Given the description of an element on the screen output the (x, y) to click on. 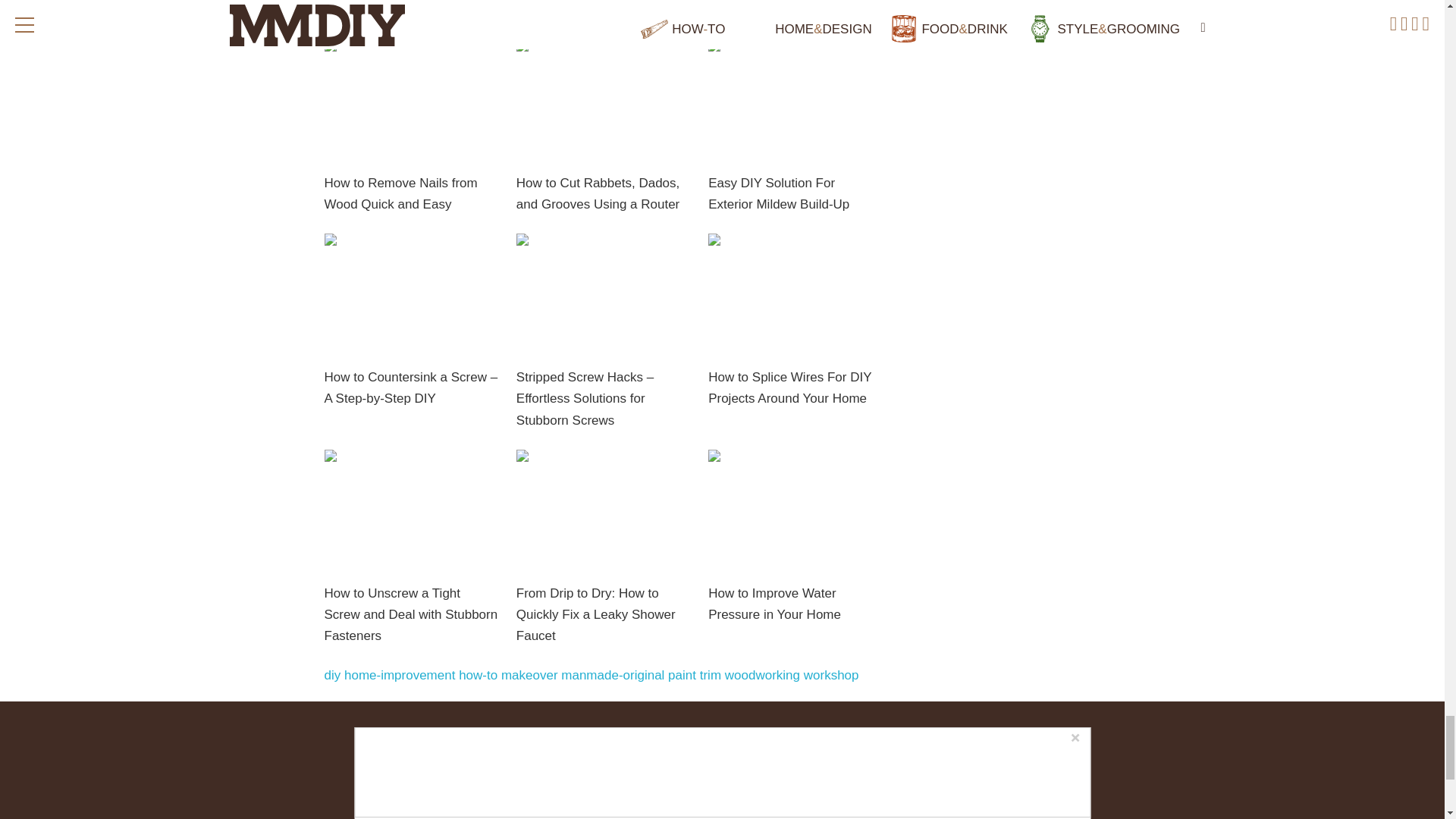
How to Remove Nails from Wood Quick and Easy (400, 193)
How to Cut Rabbets, Dados, and Grooves Using a Router (597, 193)
